Given the description of an element on the screen output the (x, y) to click on. 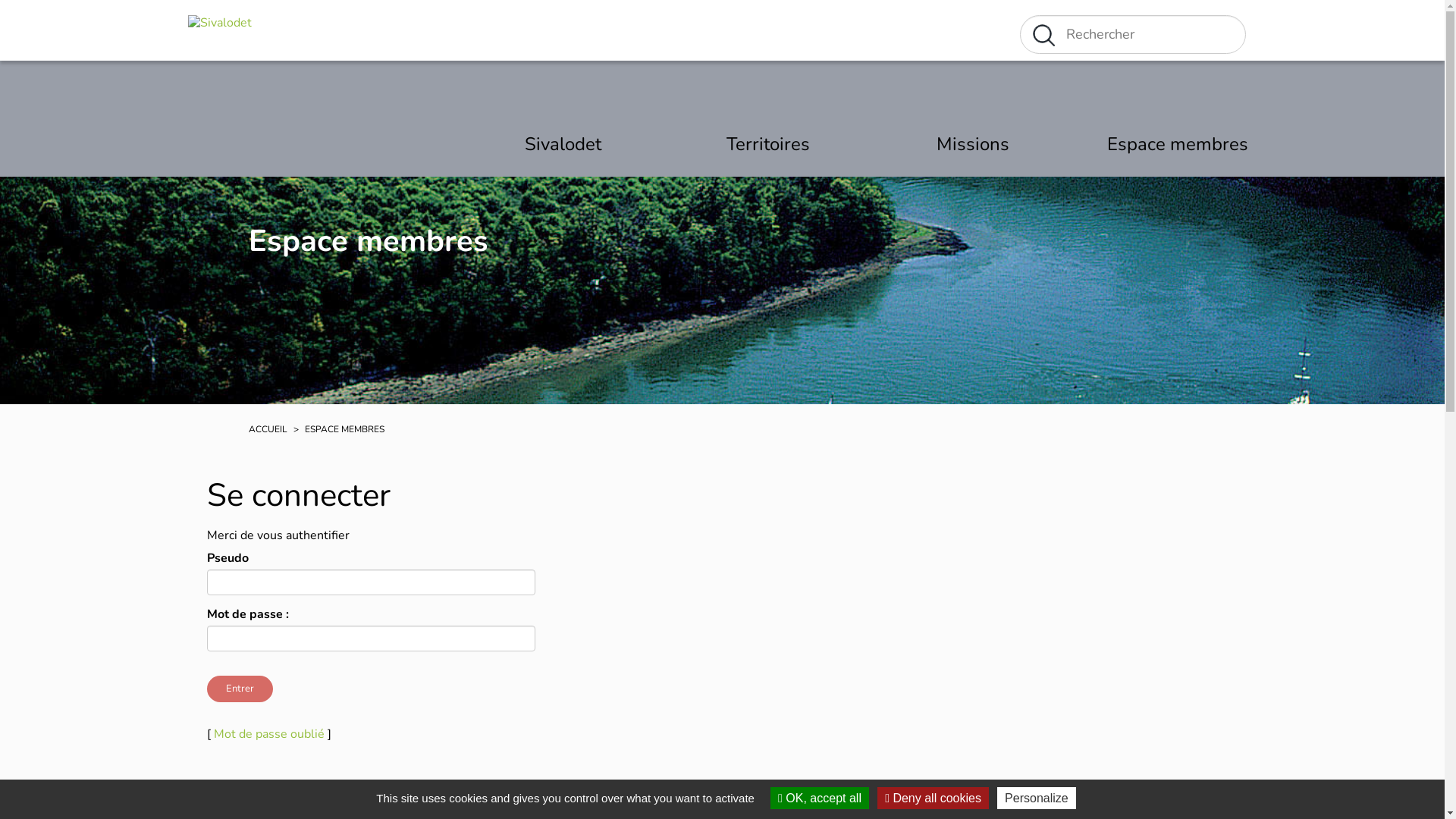
Personalize Element type: text (1036, 798)
Sivalodet Element type: text (563, 143)
Retour page d'accueil Element type: hover (219, 29)
ACCUEIL Element type: text (267, 429)
Espace membres Element type: text (1177, 143)
Deny all cookies Element type: text (932, 798)
OK, accept all Element type: text (819, 798)
Entrer Element type: text (239, 688)
Missions Element type: text (972, 143)
Territoires Element type: text (767, 143)
